Given the description of an element on the screen output the (x, y) to click on. 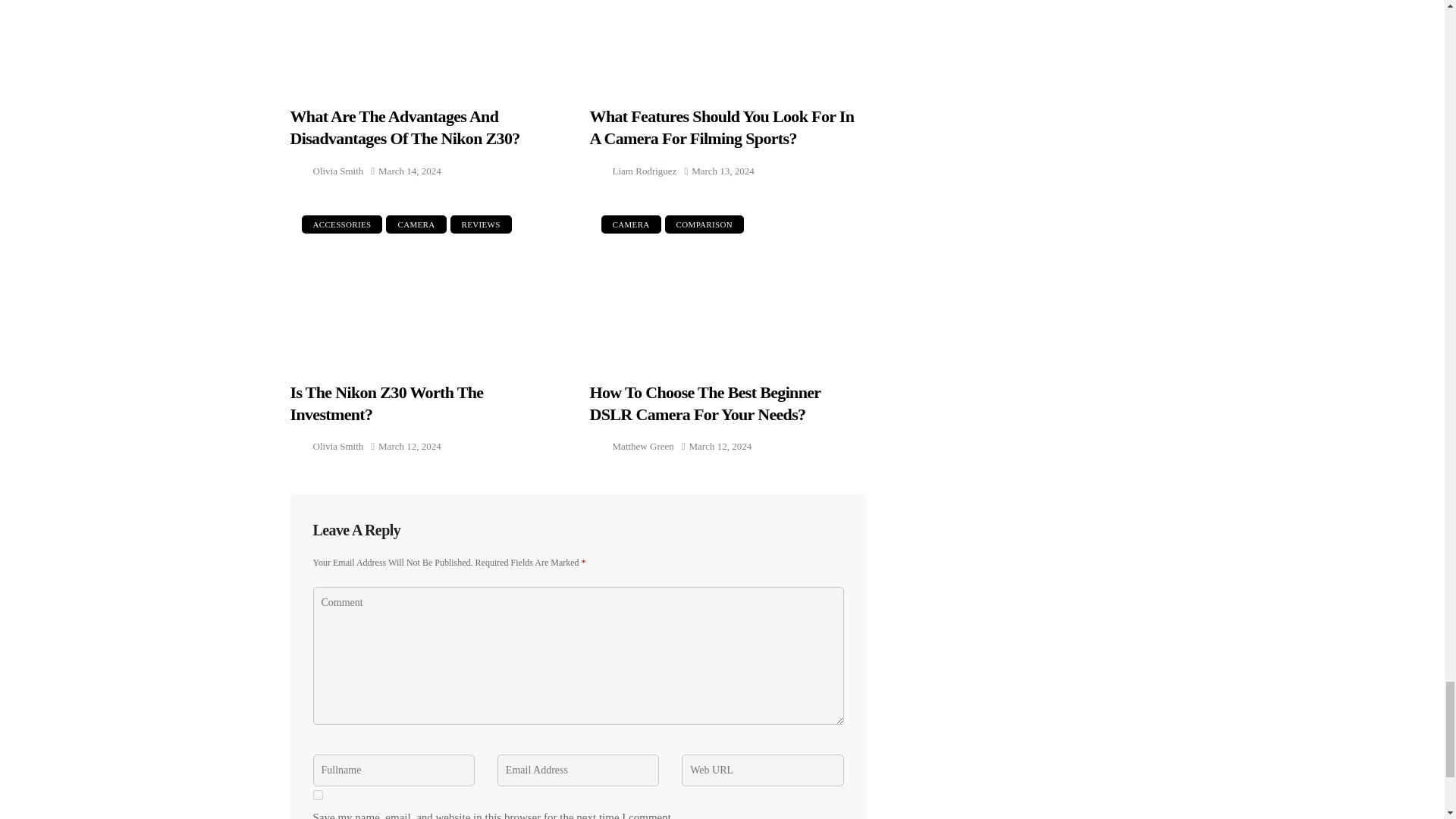
yes (317, 795)
Posts by Olivia Smith (337, 445)
Is the Nikon Z30 Worth the Investment? (427, 283)
Posts by Olivia Smith (337, 170)
Posts by Liam Rodriguez (644, 170)
Posts by Matthew Green (643, 445)
What Are the Advantages and Disadvantages of The Nikon Z30? (427, 43)
How to Choose the Best Beginner DSLR Camera for Your Needs? (727, 283)
